Given the description of an element on the screen output the (x, y) to click on. 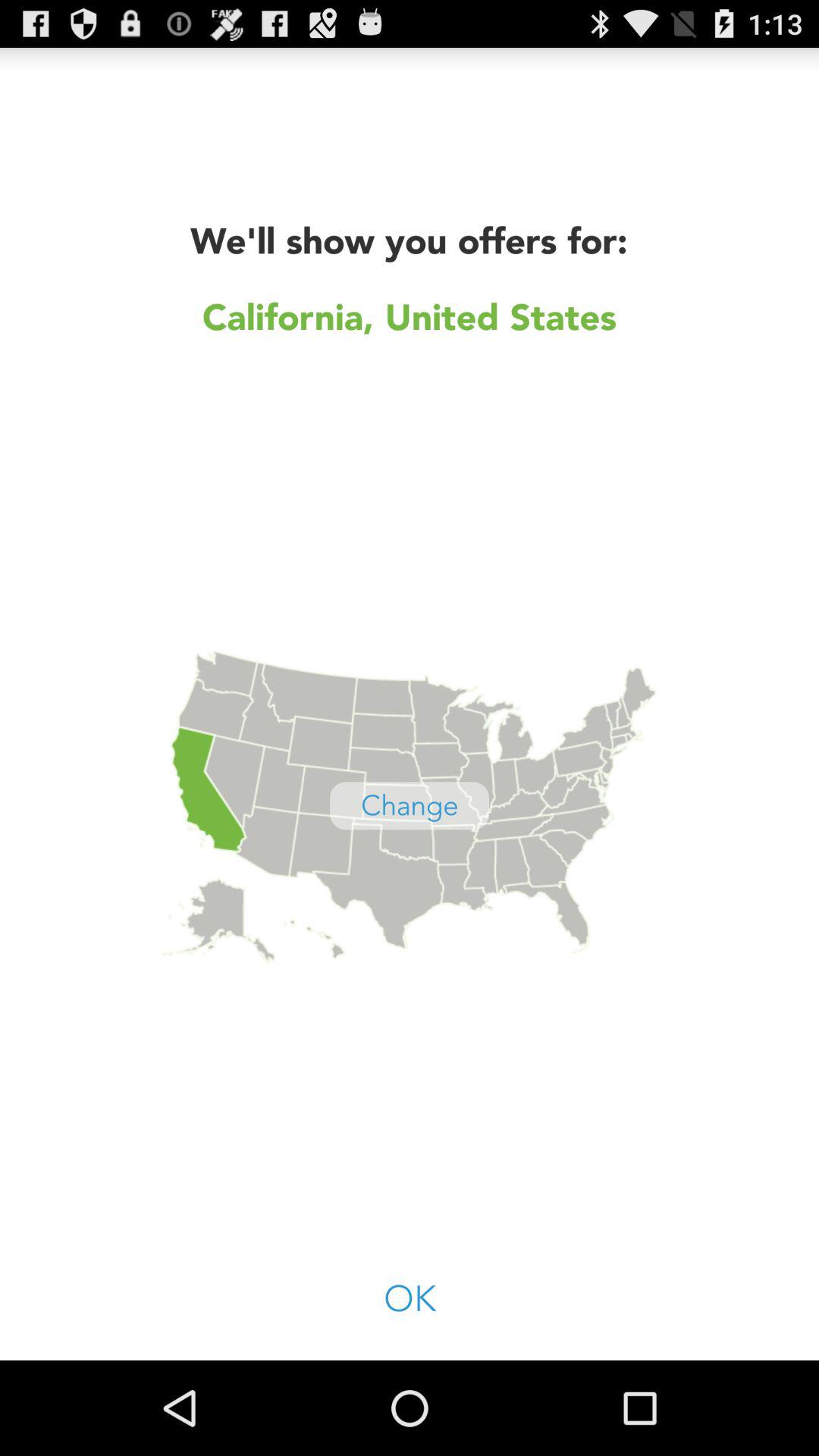
flip until change (409, 805)
